Given the description of an element on the screen output the (x, y) to click on. 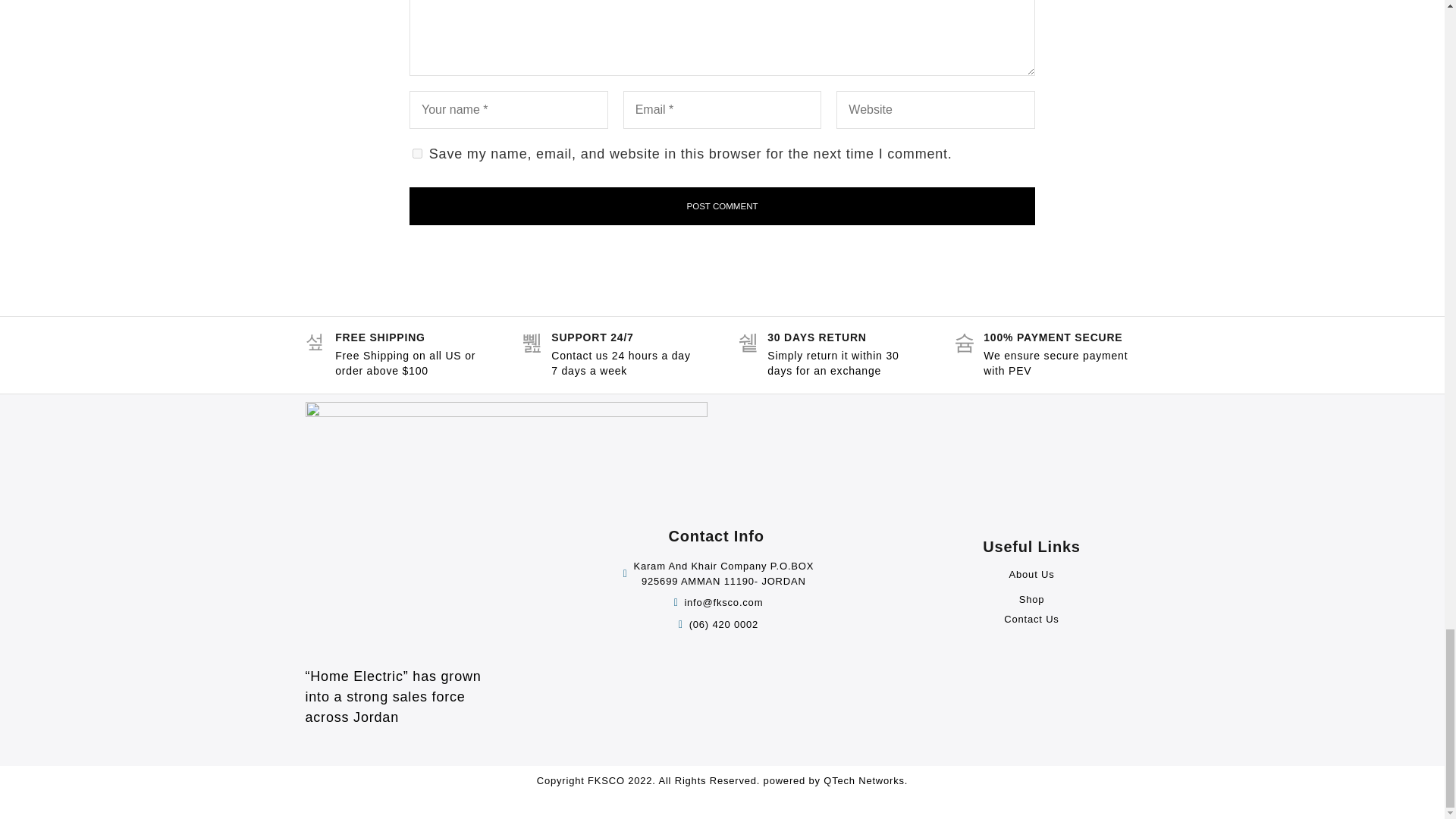
Post Comment (722, 206)
yes (417, 153)
